Given the description of an element on the screen output the (x, y) to click on. 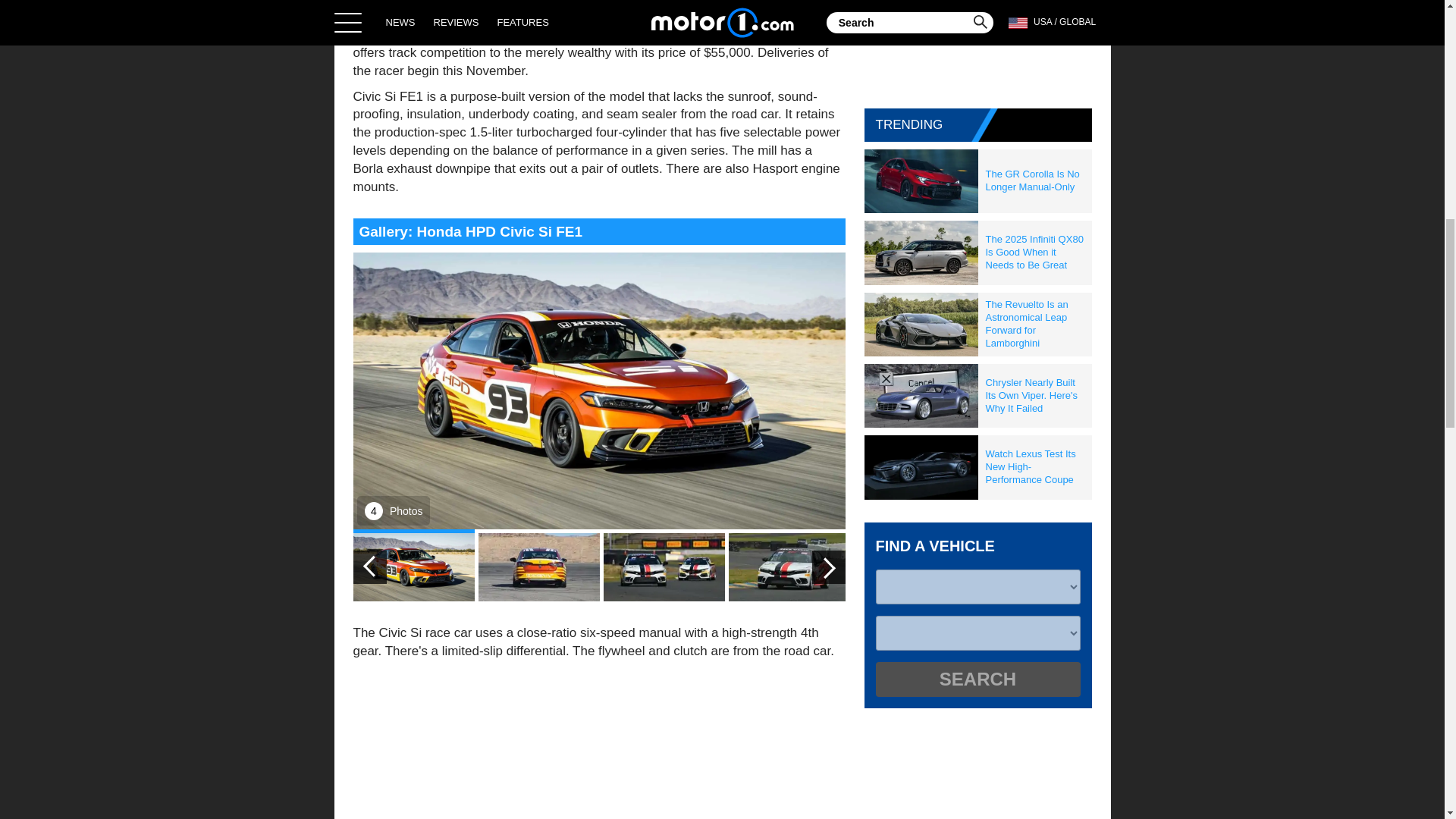
Search (977, 678)
